Given the description of an element on the screen output the (x, y) to click on. 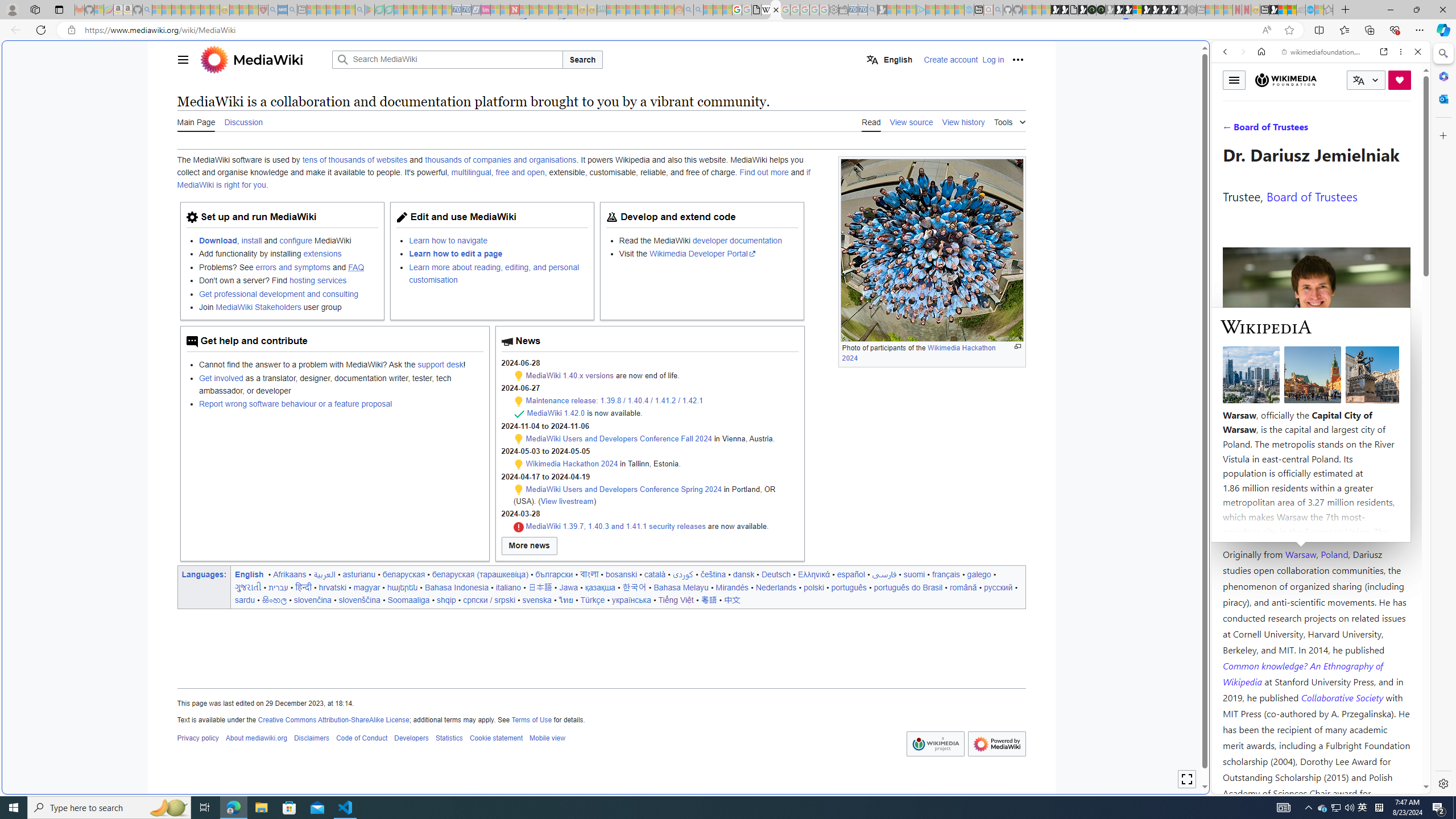
Powered by MediaWiki (996, 743)
Terms of Use (531, 719)
asturianu (358, 574)
Toggle limited content width (1186, 778)
